Given the description of an element on the screen output the (x, y) to click on. 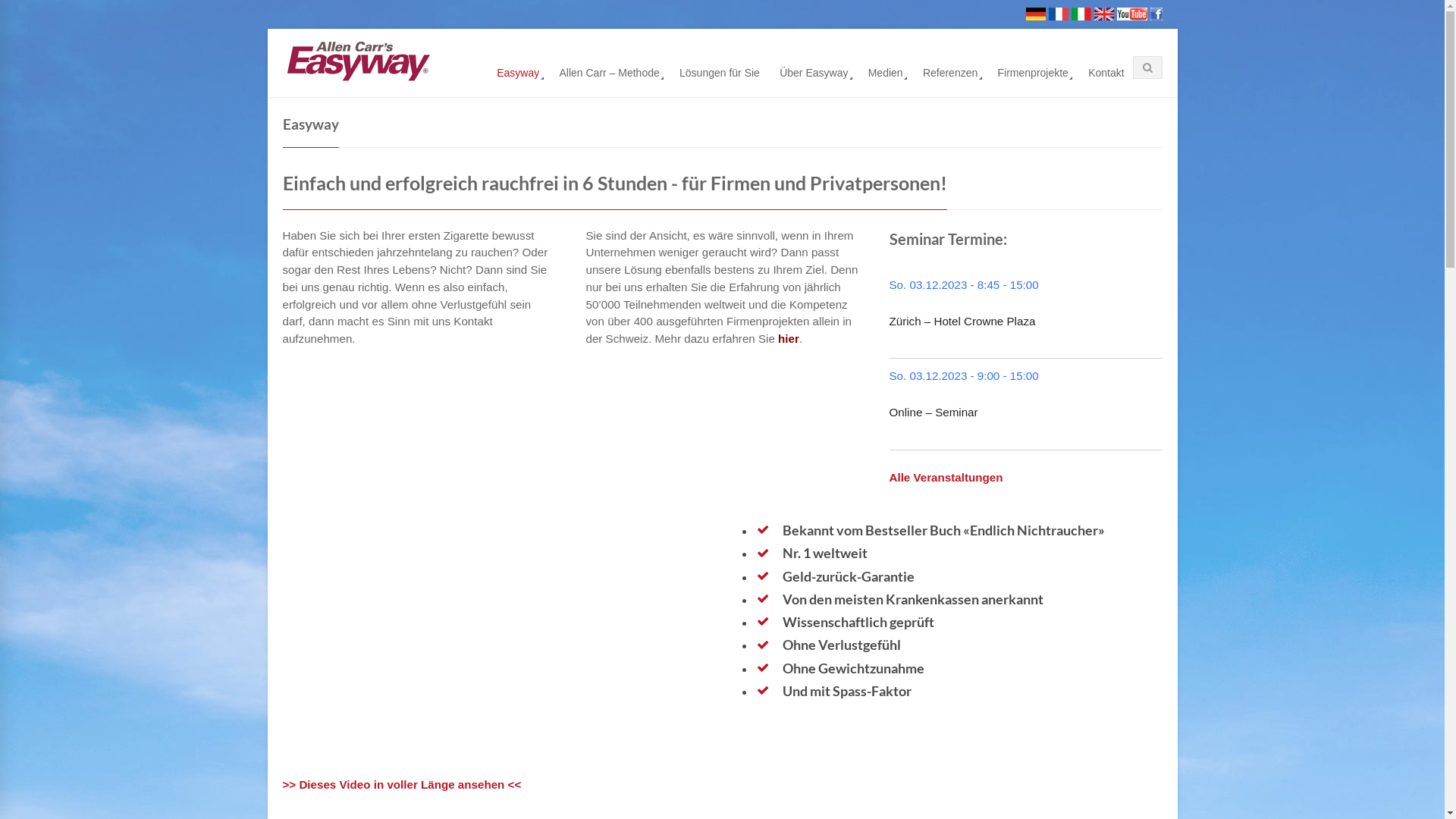
Alle Veranstaltungen Element type: text (945, 476)
Firmenprojekte Element type: text (1032, 70)
Medien Element type: text (884, 70)
Easyway Element type: text (517, 70)
Referenzen Element type: text (950, 70)
So. 03.12.2023 - 9:00 - 15:00 Element type: text (963, 375)
So. 03.12.2023 - 8:45 - 15:00 Element type: text (963, 284)
hier Element type: text (788, 338)
Kontakt Element type: text (1106, 70)
Search Element type: text (1056, 140)
